Given the description of an element on the screen output the (x, y) to click on. 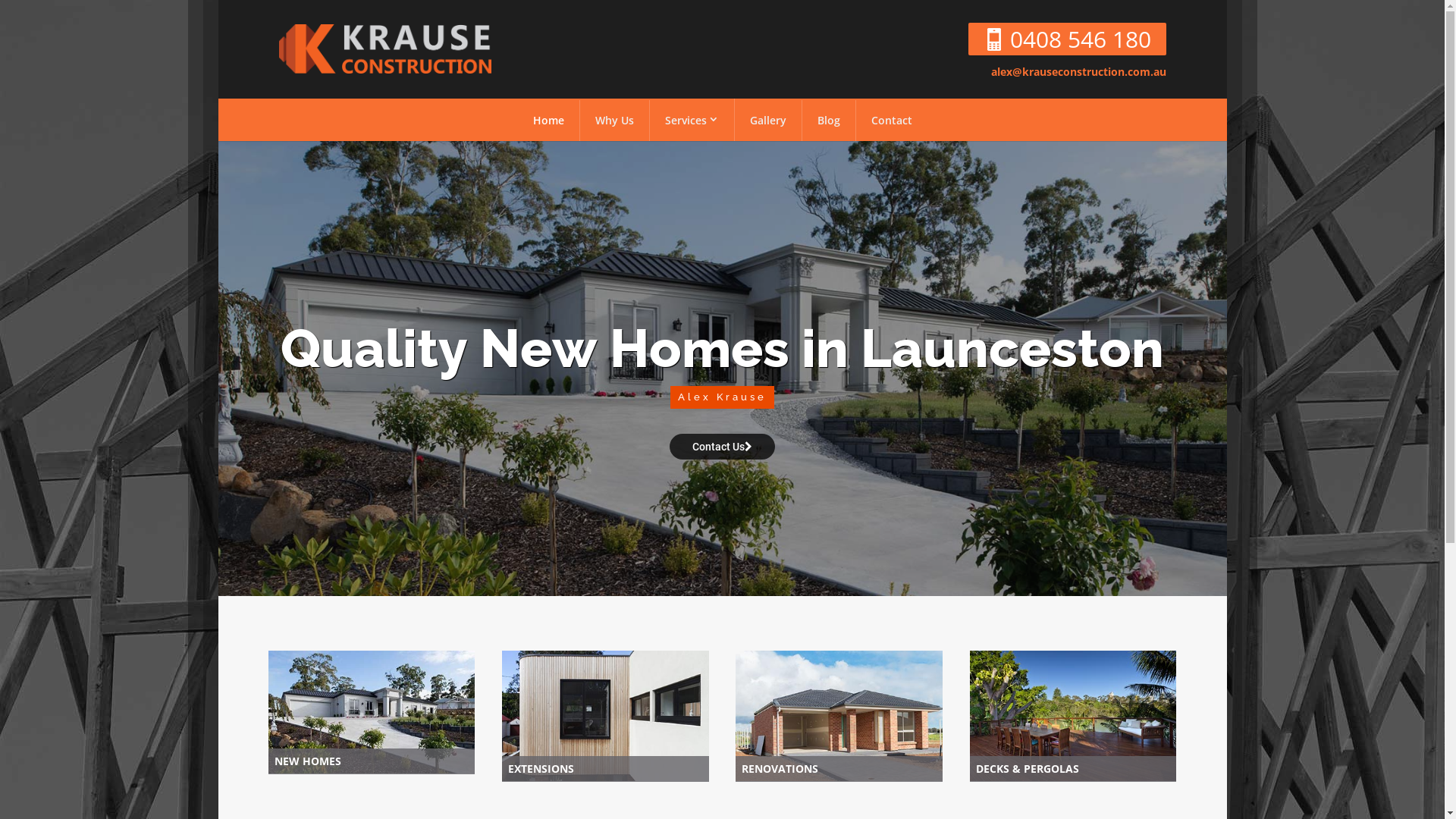
Contact Us Element type: text (721, 446)
Contact Element type: text (890, 120)
Services Element type: text (691, 119)
RENOVATIONS Element type: text (838, 768)
alex@krauseconstruction.com.au Element type: text (1077, 71)
0408 546 180 Element type: text (1080, 38)
Gallery Element type: text (767, 120)
EXTENSIONS Element type: text (605, 768)
Blog Element type: text (828, 120)
Home Element type: text (547, 120)
DECKS & PERGOLAS Element type: text (1072, 768)
Why Us Element type: text (613, 120)
NEW HOMES Element type: text (371, 761)
